Given the description of an element on the screen output the (x, y) to click on. 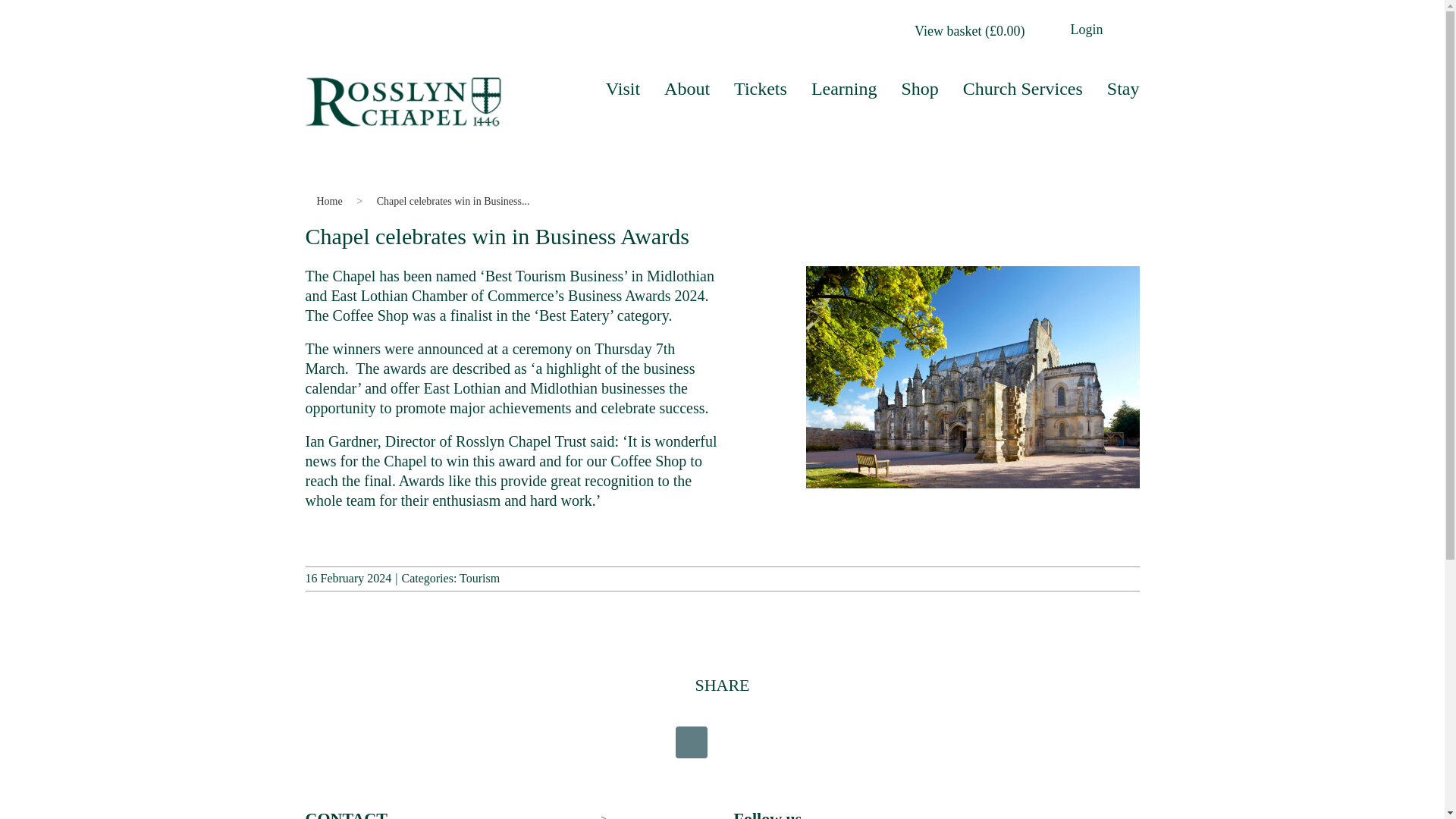
About (686, 88)
Church Services (1022, 88)
Email (784, 742)
Chapel celebrates win in Business Awards (453, 201)
Search (1129, 27)
Learning (843, 88)
Visit (622, 88)
Login (1086, 29)
Feature image (971, 377)
Shop (919, 88)
